Given the description of an element on the screen output the (x, y) to click on. 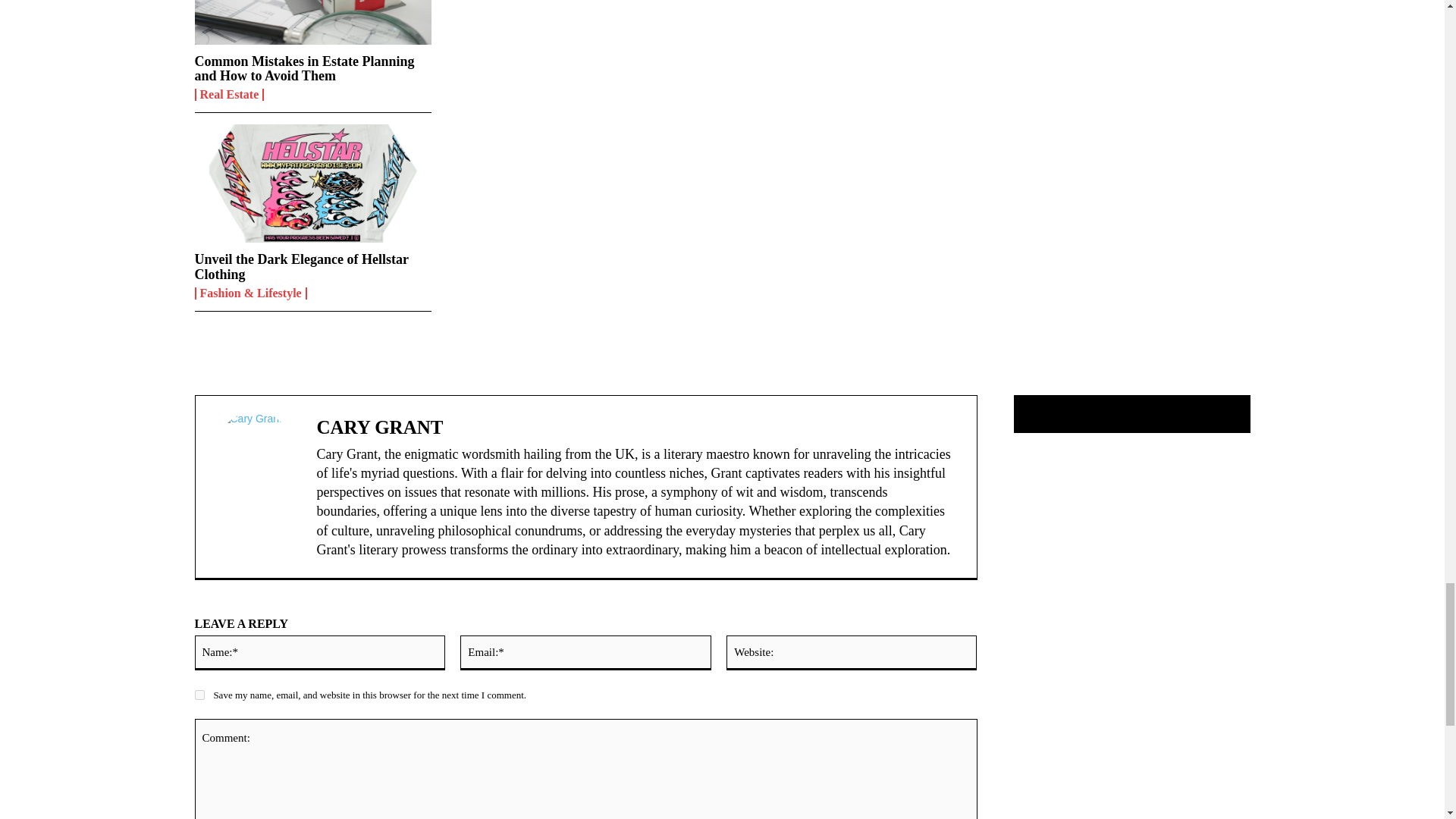
yes (198, 695)
